Given the description of an element on the screen output the (x, y) to click on. 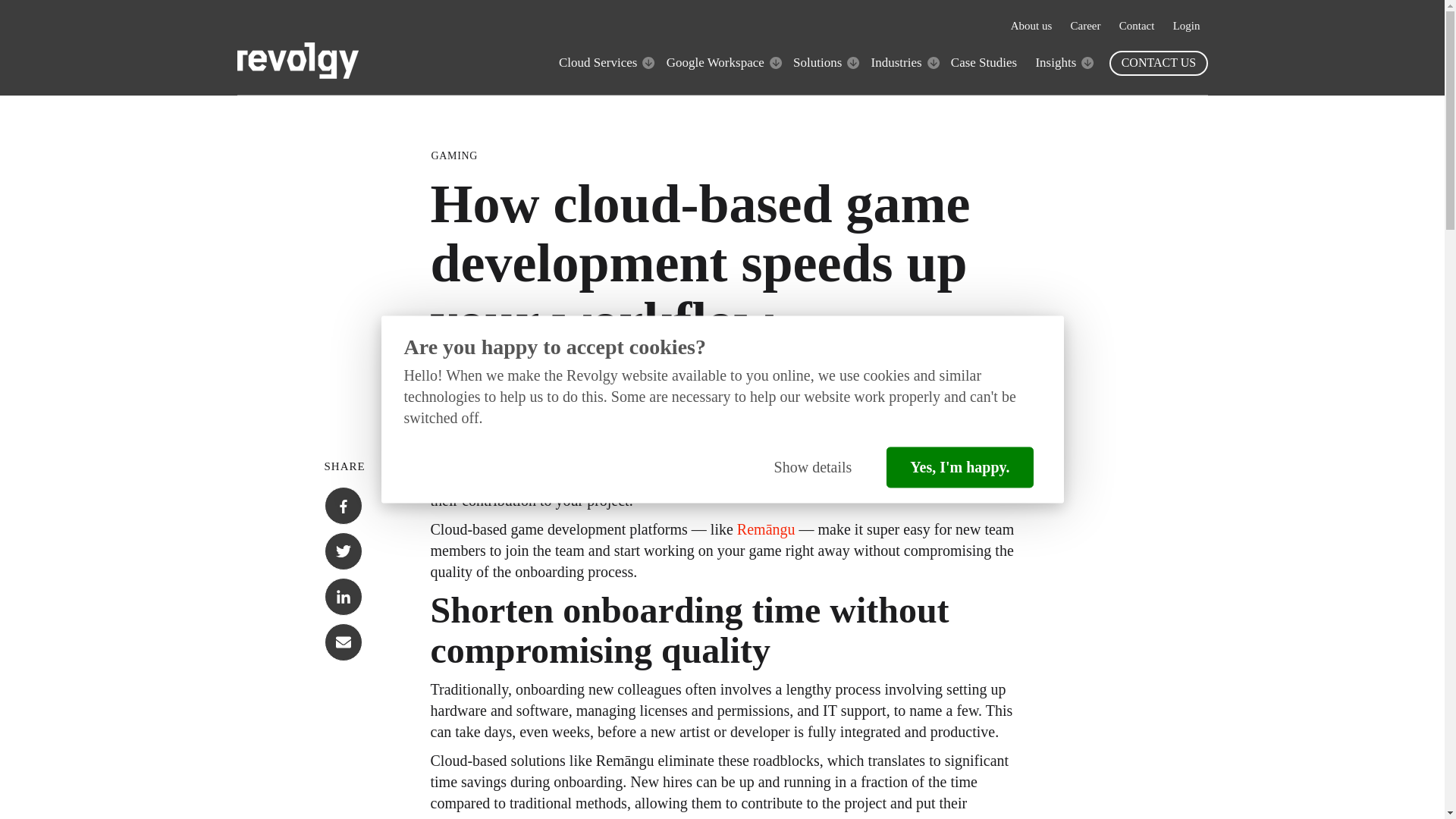
Industries (895, 62)
About us (1031, 25)
Insights (1055, 62)
Contact (1136, 25)
Show details (813, 467)
Case Studies (983, 62)
Login (1186, 25)
Career (1085, 25)
Google Workspace (715, 62)
Solutions (817, 62)
Cloud Services (598, 62)
Yes, I'm happy. (959, 467)
